Given the description of an element on the screen output the (x, y) to click on. 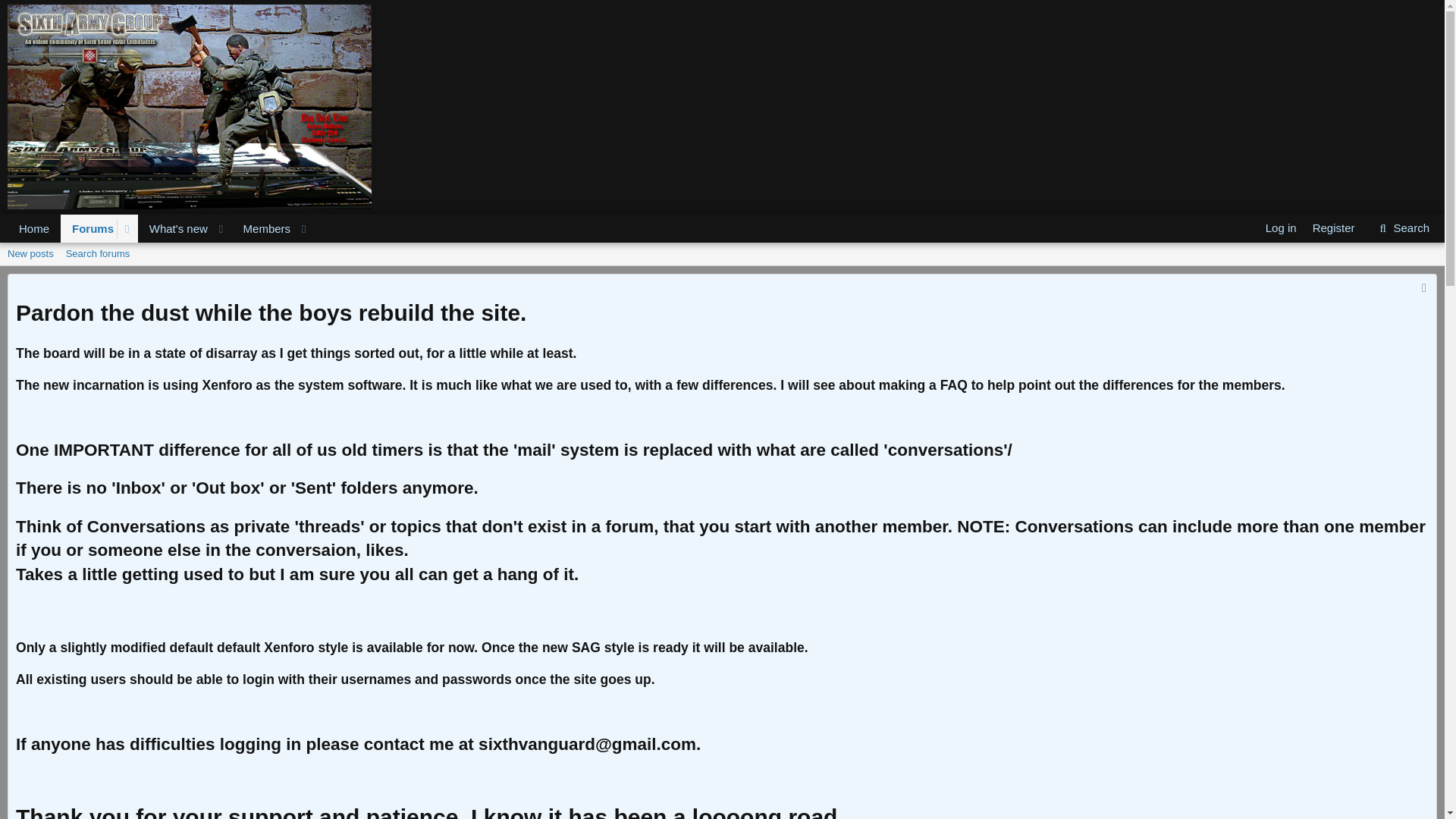
What's new (160, 245)
Register (174, 228)
Search forums (721, 270)
Search (1333, 227)
Home (97, 253)
Search (160, 228)
New posts (1402, 227)
Log in (34, 228)
Members (1402, 227)
Forums (30, 253)
